Given the description of an element on the screen output the (x, y) to click on. 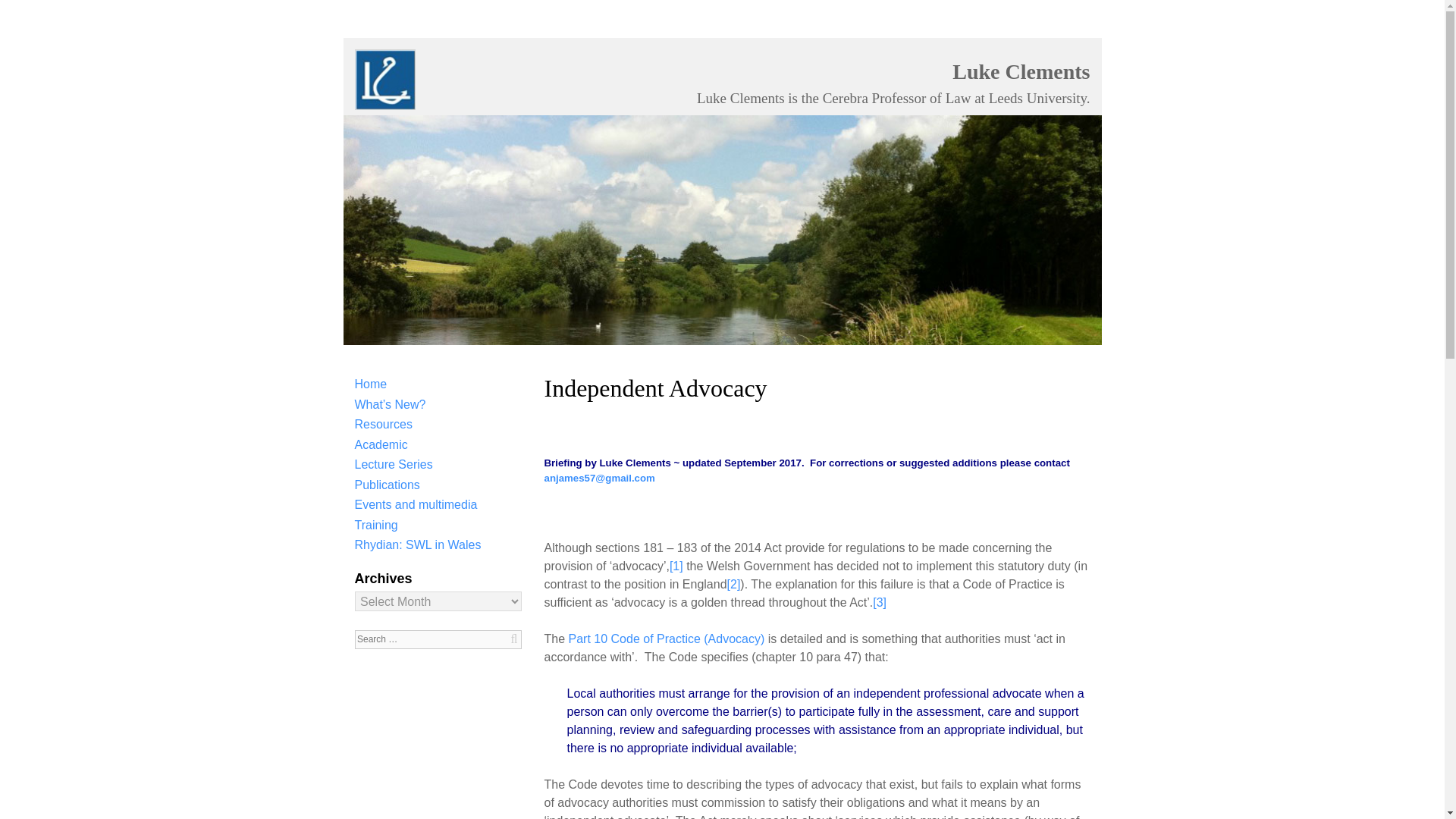
Resources (383, 423)
Training (376, 524)
Search (44, 12)
Luke Clements (1020, 70)
Lecture Series (393, 463)
Rhydian: SWL in Wales (418, 544)
Publications (387, 484)
Academic (381, 444)
Home (371, 383)
Events and multimedia (416, 504)
